Given the description of an element on the screen output the (x, y) to click on. 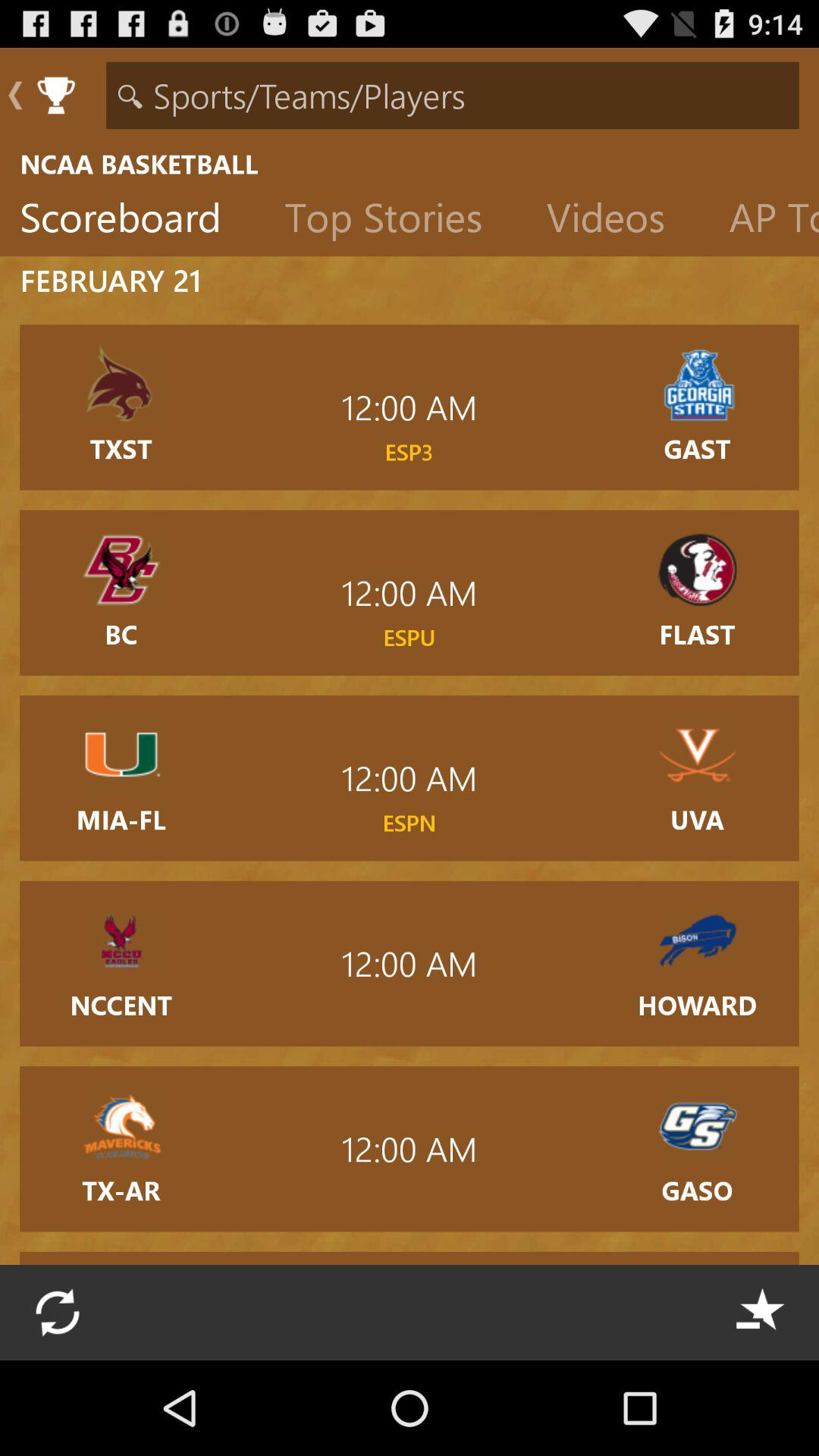
enter search terms (452, 95)
